Given the description of an element on the screen output the (x, y) to click on. 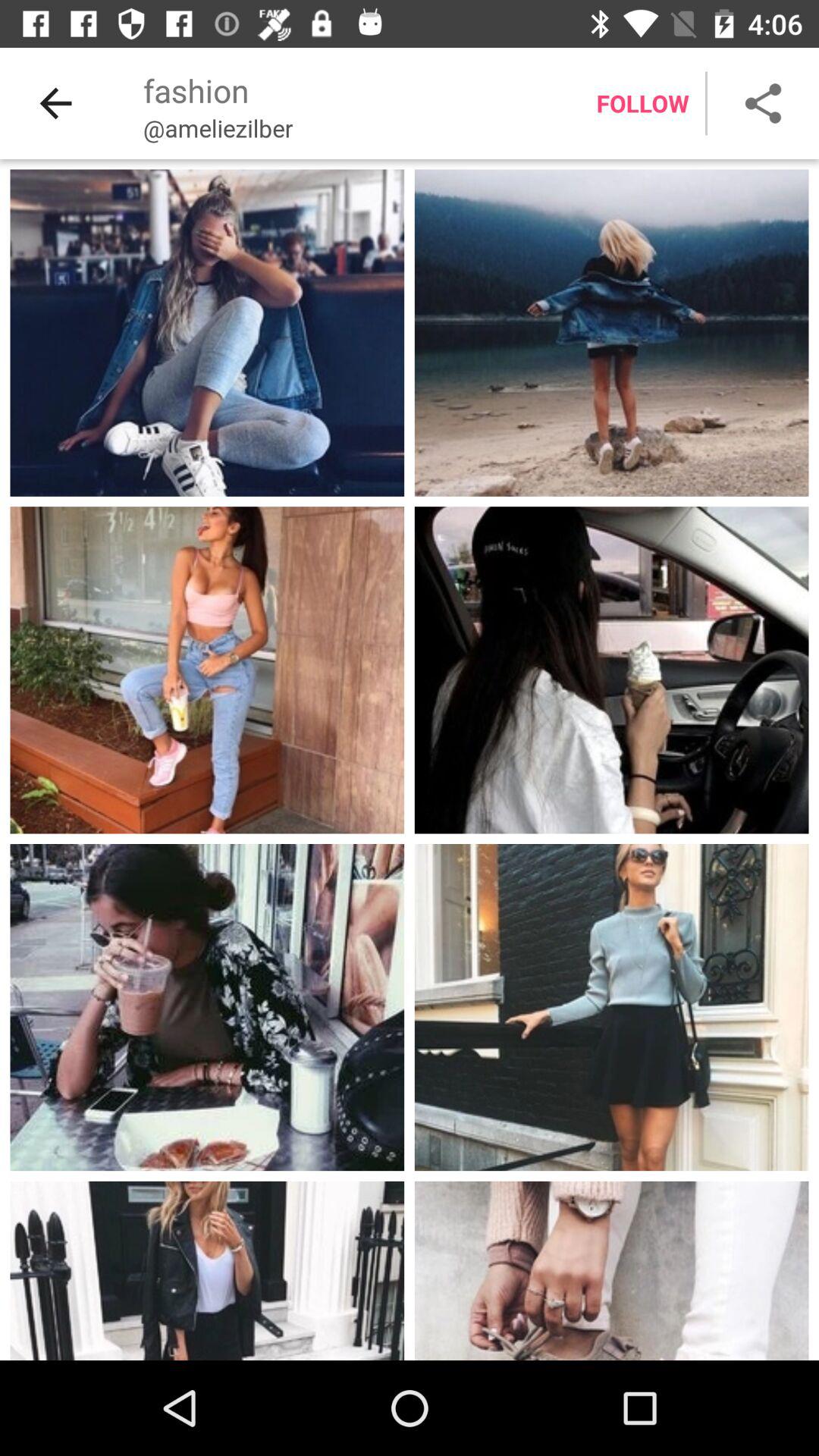
turn off icon next to fashion icon (55, 103)
